Given the description of an element on the screen output the (x, y) to click on. 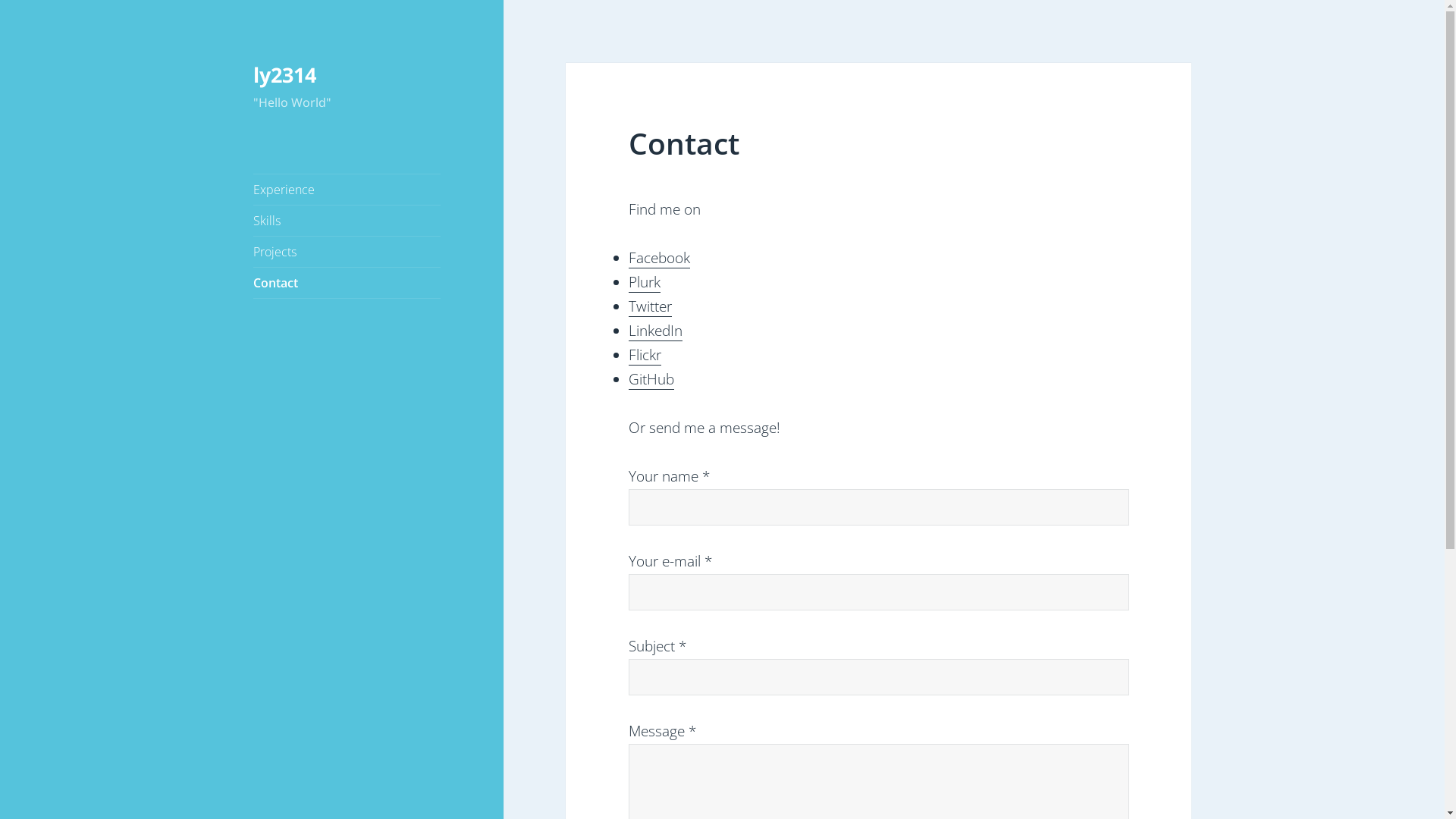
ly2314 Element type: text (284, 74)
LinkedIn Element type: text (655, 330)
Contact Element type: text (347, 282)
Flickr Element type: text (644, 355)
Plurk Element type: text (644, 282)
Experience Element type: text (347, 189)
Facebook Element type: text (659, 257)
GitHub Element type: text (651, 379)
Skills Element type: text (347, 220)
Projects Element type: text (347, 251)
Twitter Element type: text (649, 306)
